Given the description of an element on the screen output the (x, y) to click on. 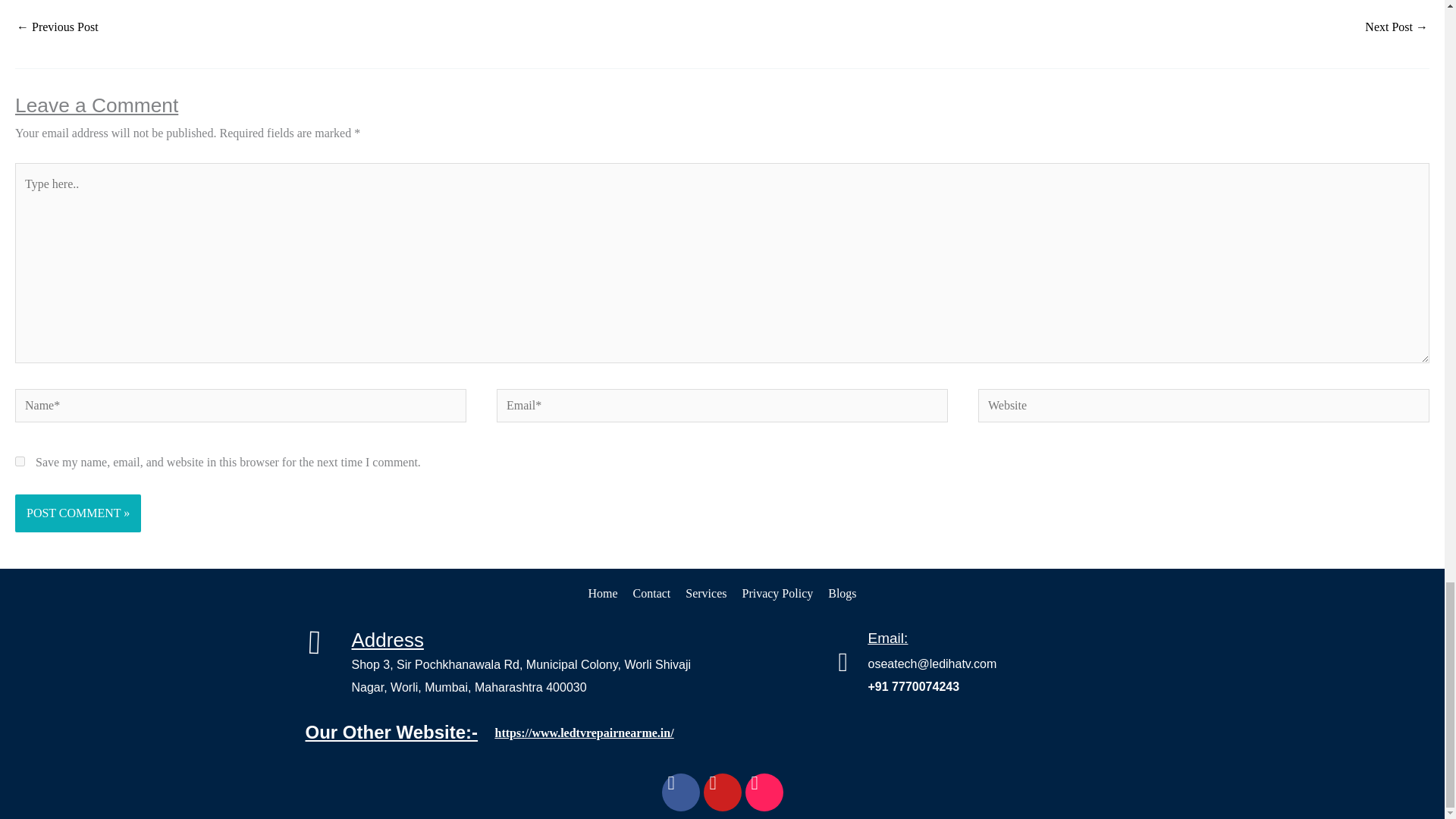
yes (19, 461)
Email: (887, 637)
Contact (652, 593)
Privacy Policy (776, 593)
Services (705, 593)
